Given the description of an element on the screen output the (x, y) to click on. 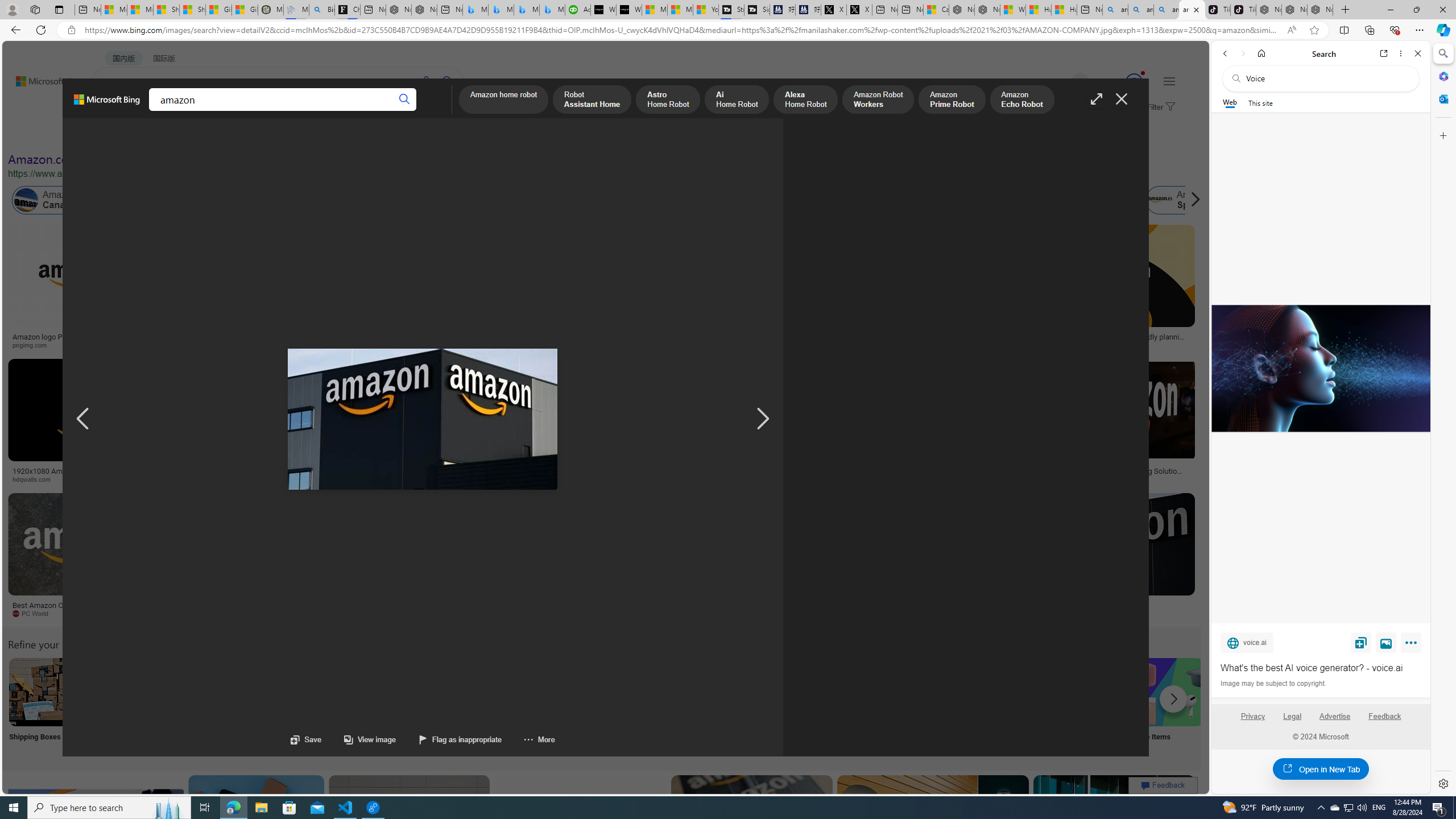
Type (212, 135)
Amazon Canada Online (25, 200)
Eugene (1063, 81)
What's the best AI voice generator? - voice.ai (1320, 368)
What's the best AI voice generator? - voice.ai (628, 9)
Nordace - Summer Adventures 2024 (986, 9)
Add this page to favorites (Ctrl+D) (1314, 29)
Class: b_pri_nav_svg (191, 112)
This site scope (1259, 102)
Amazon home robot (503, 100)
Amazon Online Store (644, 691)
Address and search bar (680, 29)
Collections (1369, 29)
More (528, 739)
Settings and more (Alt+F) (1419, 29)
